Given the description of an element on the screen output the (x, y) to click on. 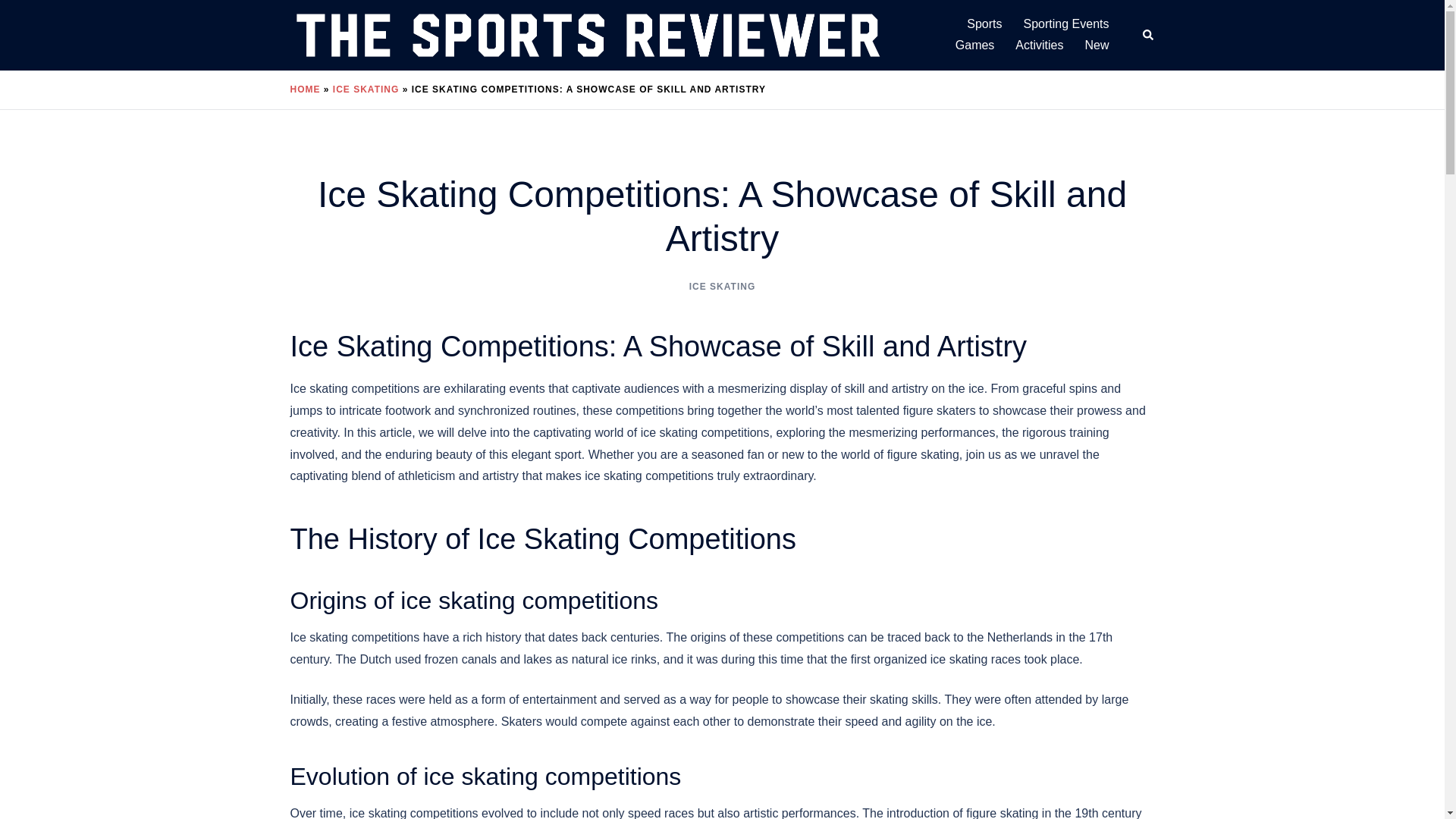
HOME (304, 89)
Sports (983, 24)
ICE SKATING (721, 286)
Activities (1038, 45)
New (1096, 45)
Sporting Events (1066, 24)
TheSportsReviewer.com (586, 33)
Search (1147, 34)
Games (974, 45)
ICE SKATING (365, 89)
